Given the description of an element on the screen output the (x, y) to click on. 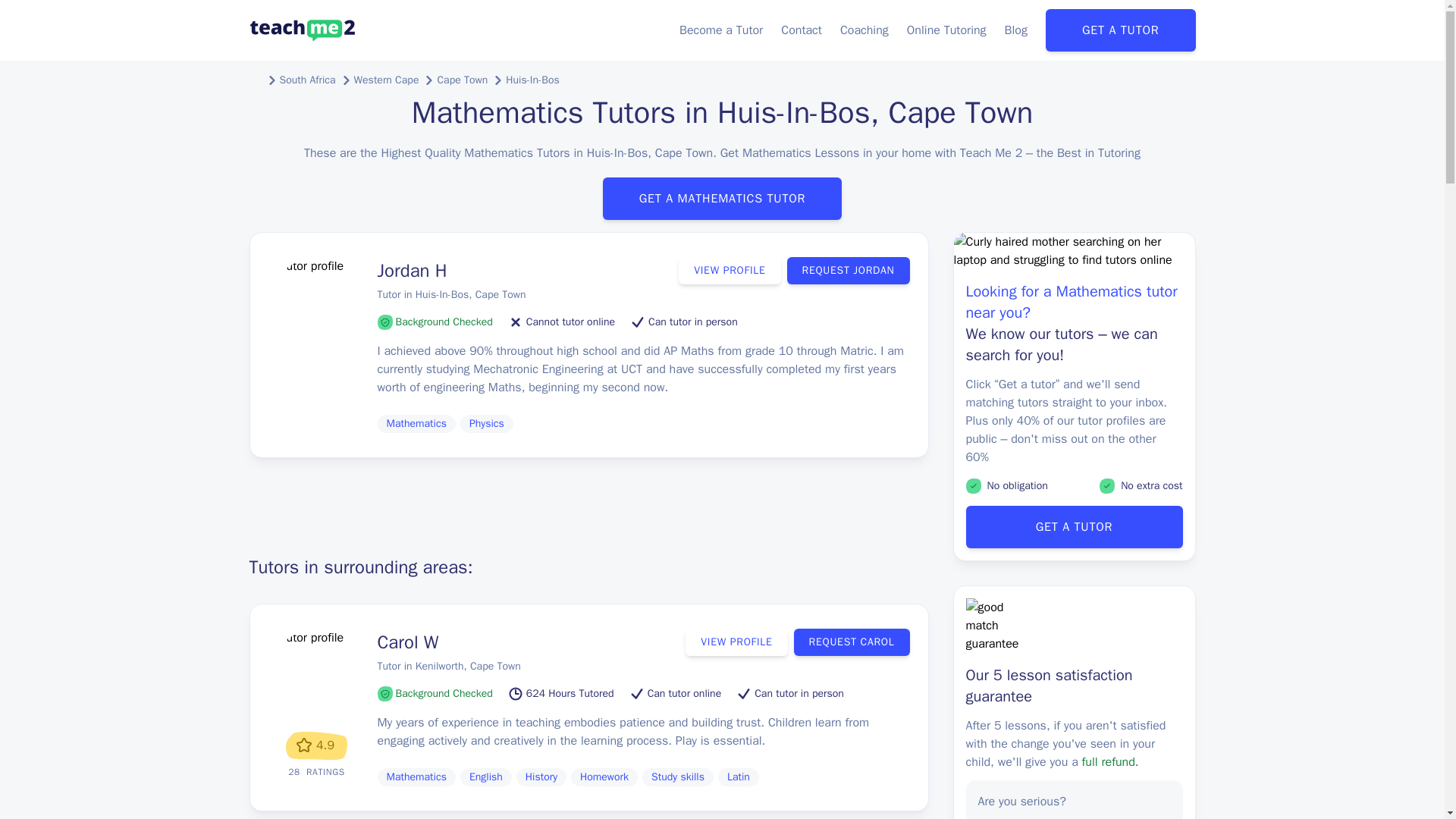
Contact (801, 29)
Online Tutoring (947, 29)
VIEW PROFILE (736, 642)
VIEW PROFILE (729, 270)
GET A TUTOR (1120, 30)
Blog (1015, 29)
Carol W (408, 641)
Jump to the front page (301, 29)
REQUEST JORDAN (848, 270)
GET A MATHEMATICS TUTOR (722, 198)
Become a Tutor (720, 29)
Western Cape (386, 79)
South Africa (306, 79)
Coaching (864, 29)
Jordan H (411, 270)
